Given the description of an element on the screen output the (x, y) to click on. 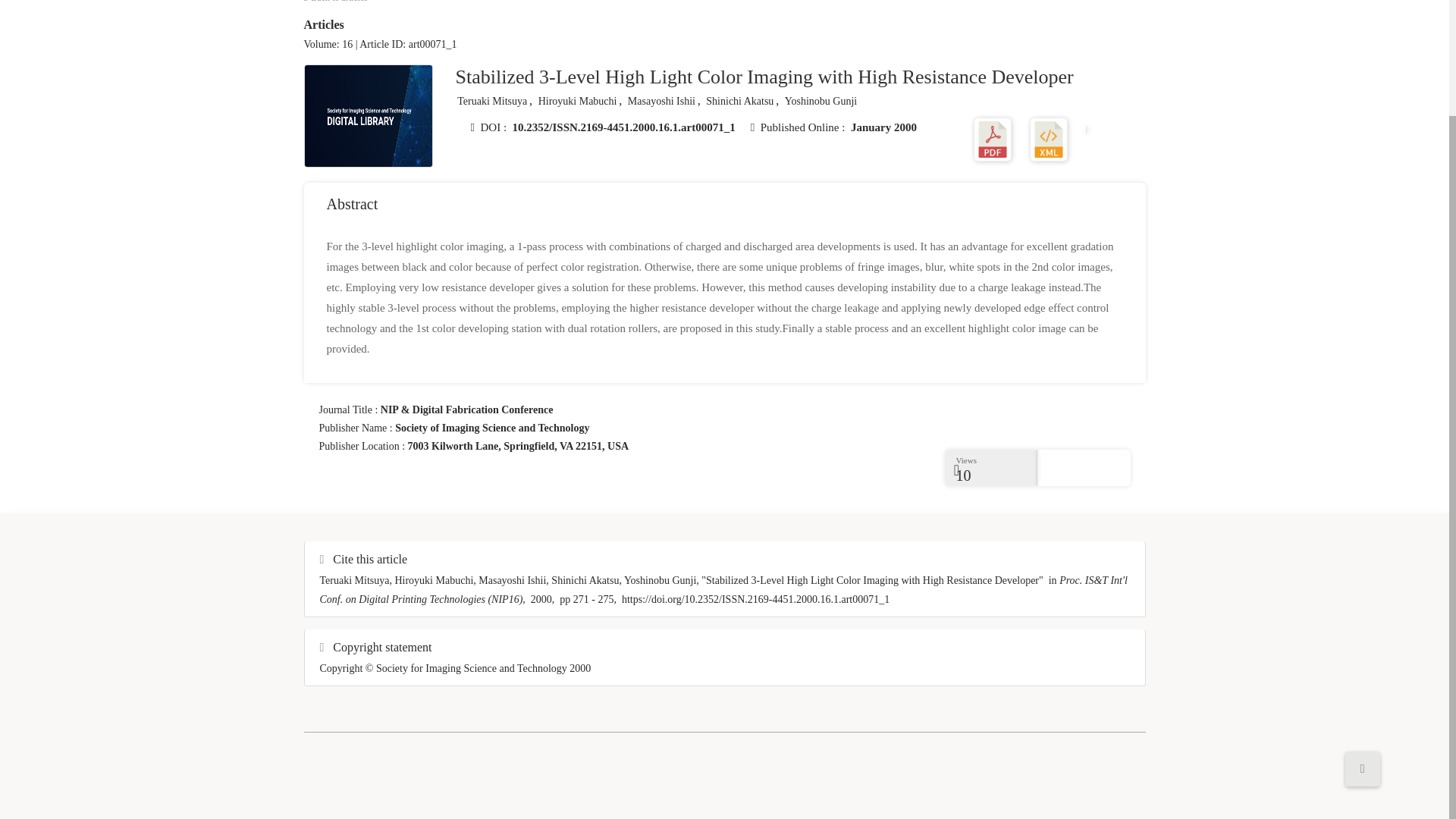
Download XML (1048, 137)
Download PDF (992, 137)
No article cover image (368, 116)
